Given the description of an element on the screen output the (x, y) to click on. 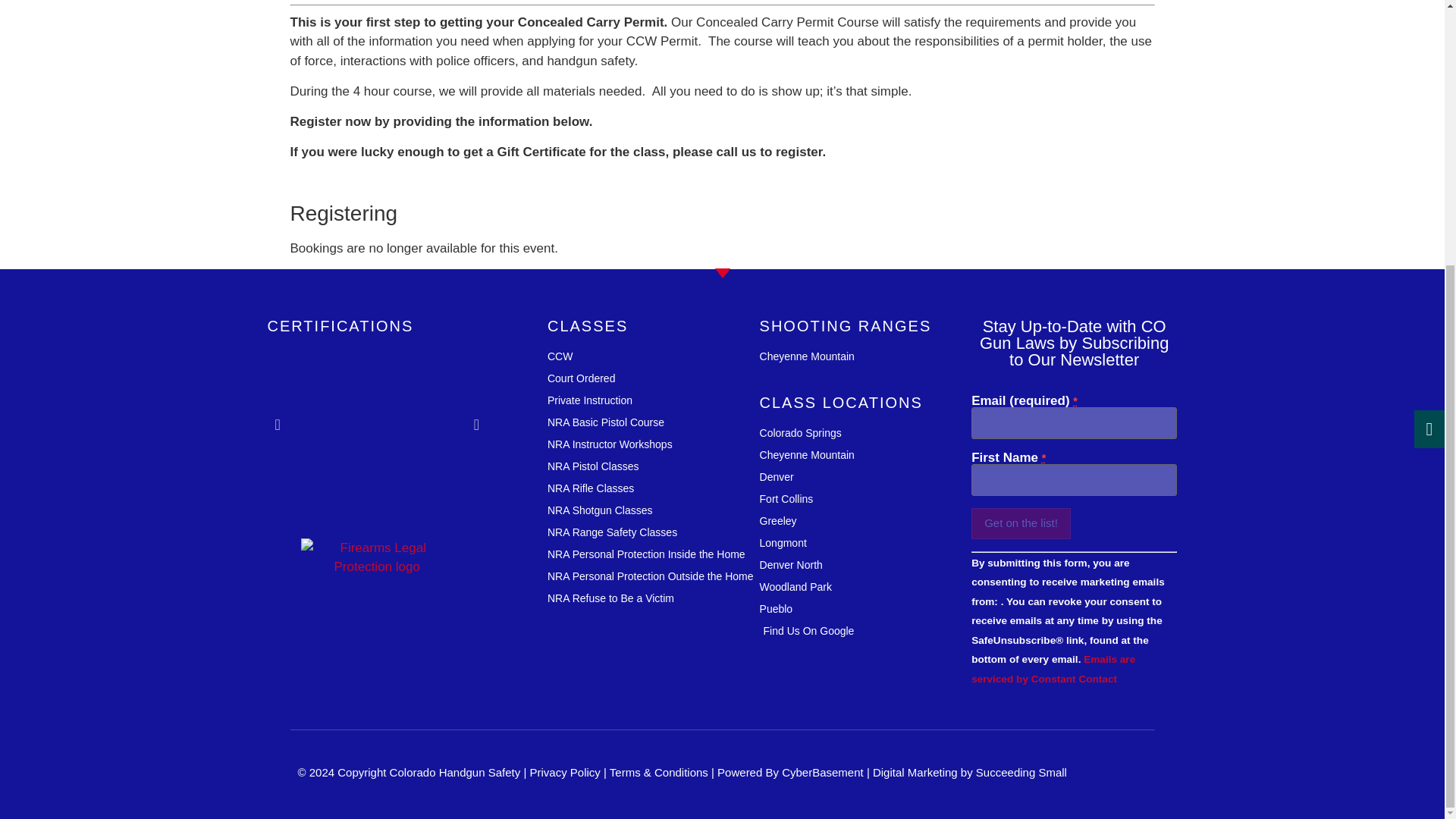
CCW (653, 356)
Get on the list! (1020, 522)
CyberBasement (822, 771)
